Given the description of an element on the screen output the (x, y) to click on. 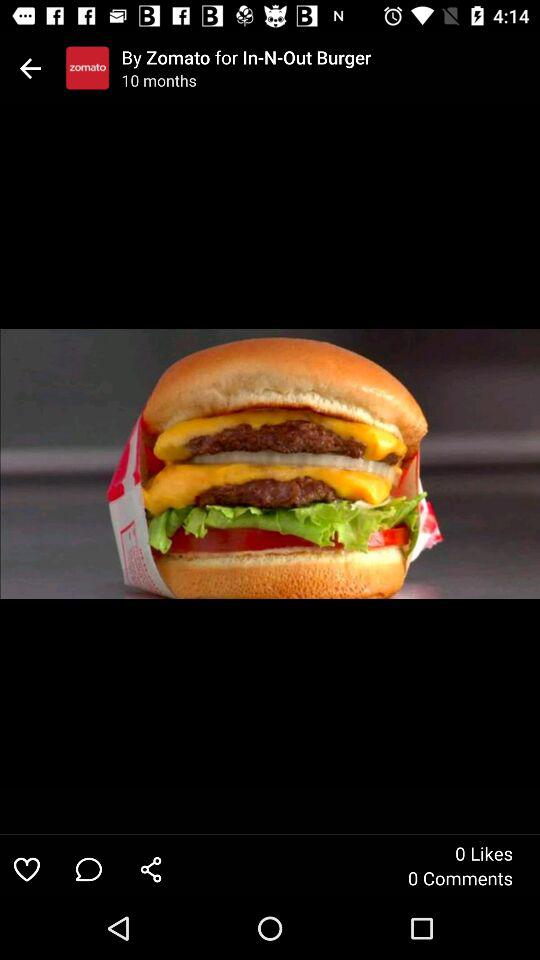
flip to the by zomato for icon (330, 57)
